Given the description of an element on the screen output the (x, y) to click on. 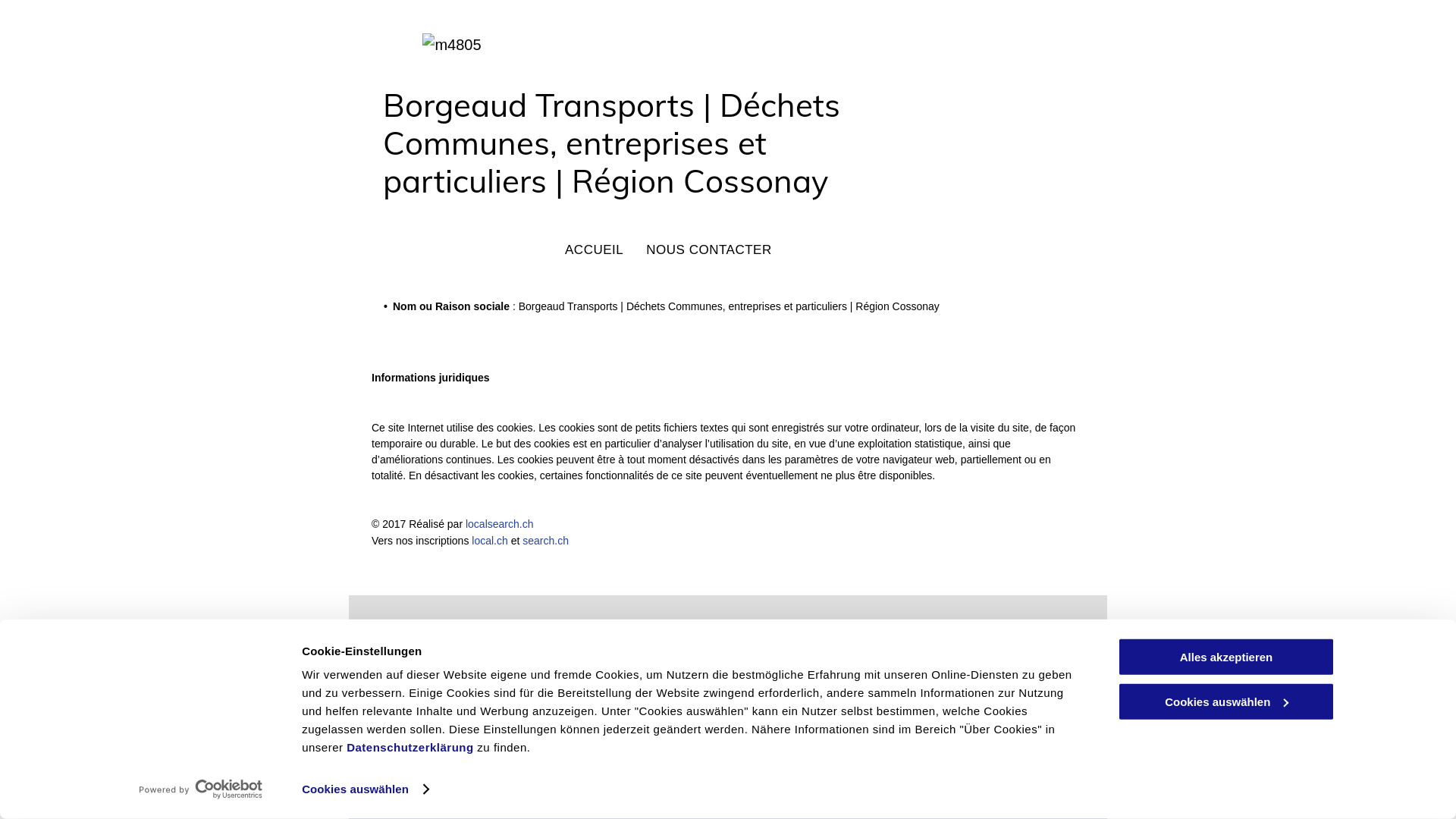
Alles akzeptieren Element type: text (1225, 656)
search.ch Element type: text (545, 540)
local.ch Element type: text (489, 540)
localsearch.ch Element type: text (499, 523)
Twitter Tweet Button Element type: hover (398, 629)
ACCUEIL Element type: text (593, 250)
NOUS CONTACTER Element type: text (708, 250)
